Given the description of an element on the screen output the (x, y) to click on. 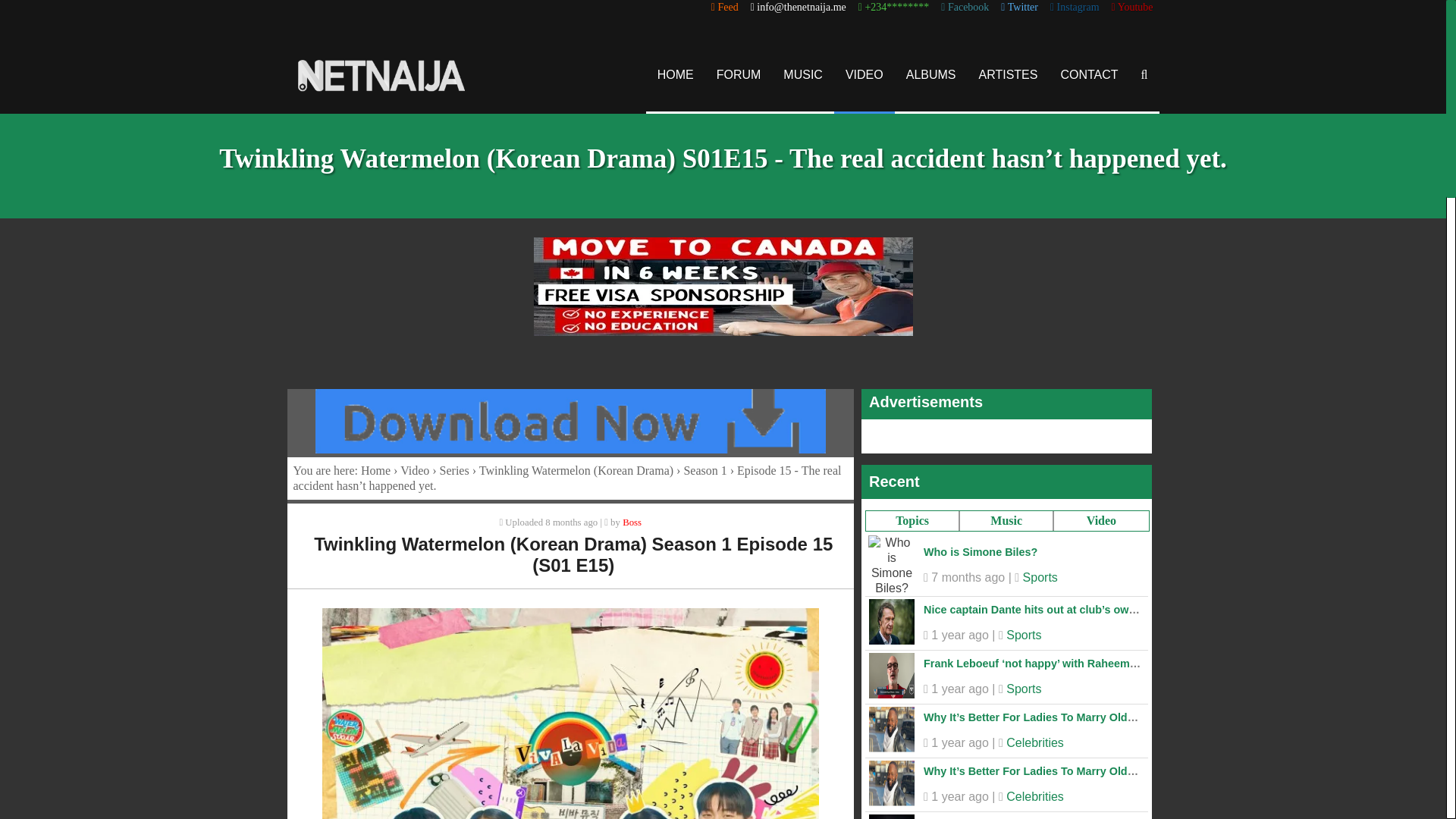
Boss (632, 521)
FORUM (738, 74)
ARTISTES (1008, 74)
Twitter (1019, 7)
Who is Simone Biles? (979, 551)
Feed (724, 7)
Youtube (1132, 7)
Facebook (964, 7)
Instagram (1074, 7)
ALBUMS (931, 74)
